Given the description of an element on the screen output the (x, y) to click on. 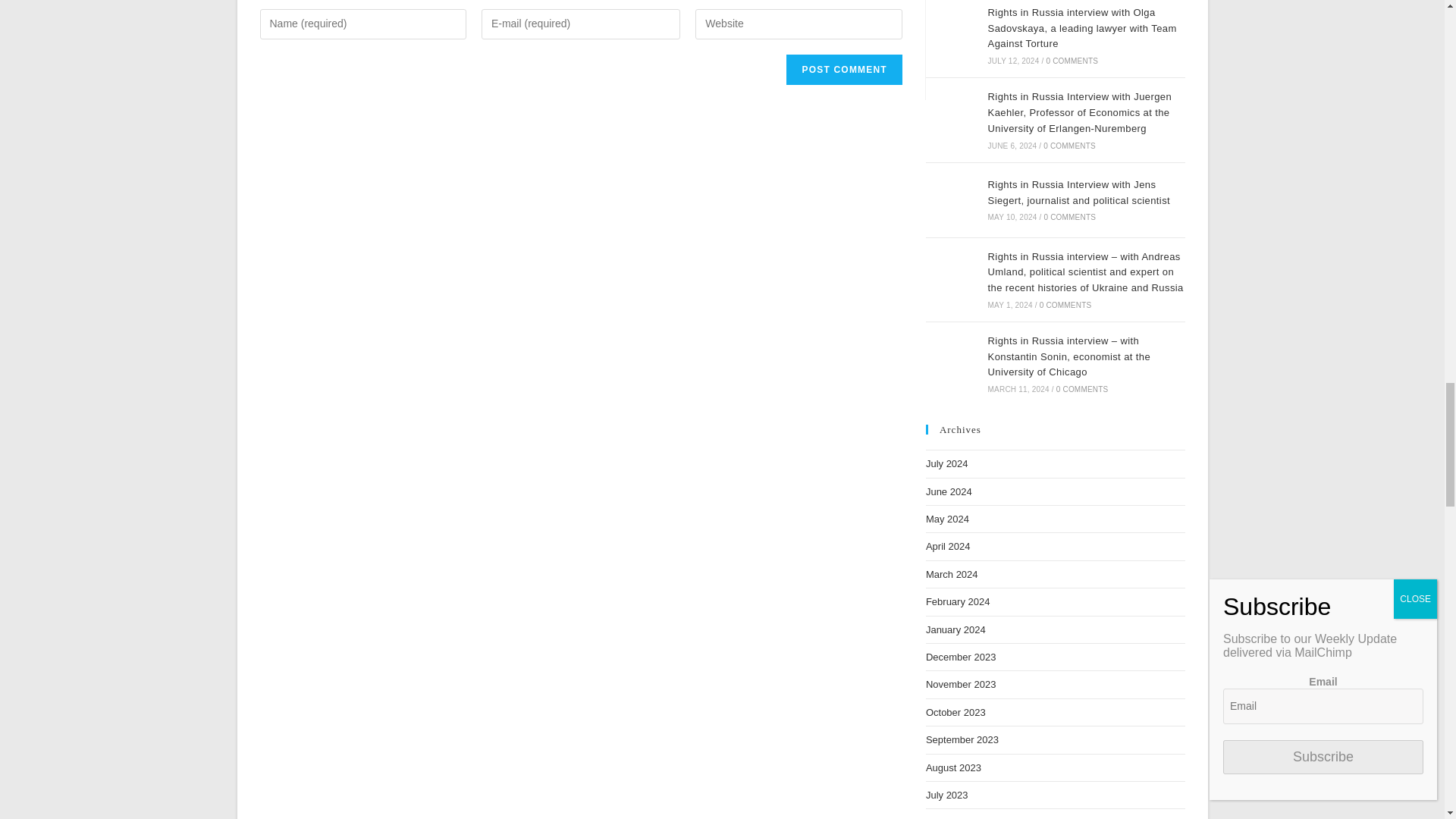
Post Comment (843, 69)
